Given the description of an element on the screen output the (x, y) to click on. 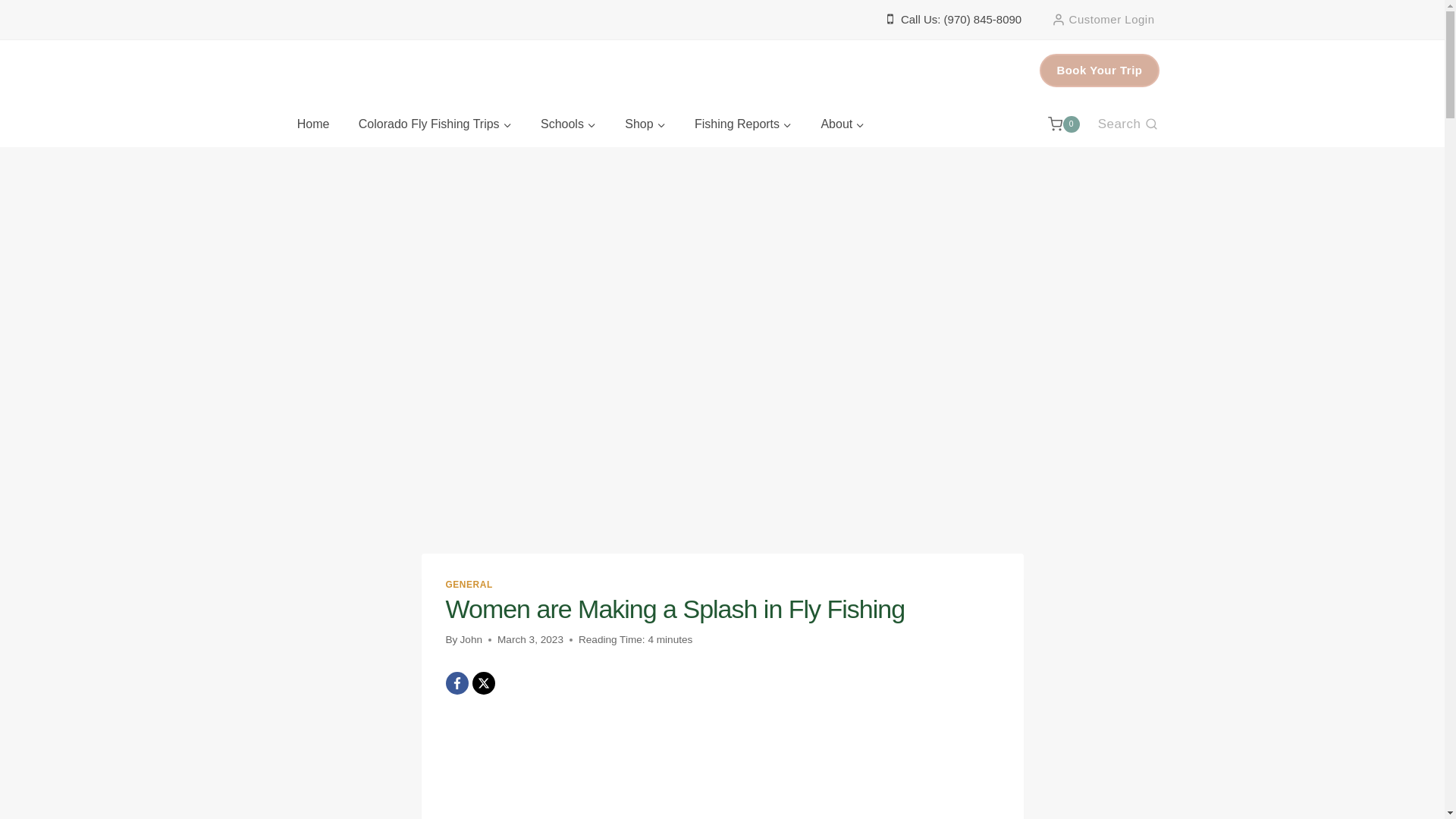
Colorado Fly Fishing Trips (434, 123)
Customer Login (1103, 19)
Schools (567, 123)
Book Your Trip (1098, 70)
Fishing Reports (742, 123)
Home (312, 123)
Shop (644, 123)
